Given the description of an element on the screen output the (x, y) to click on. 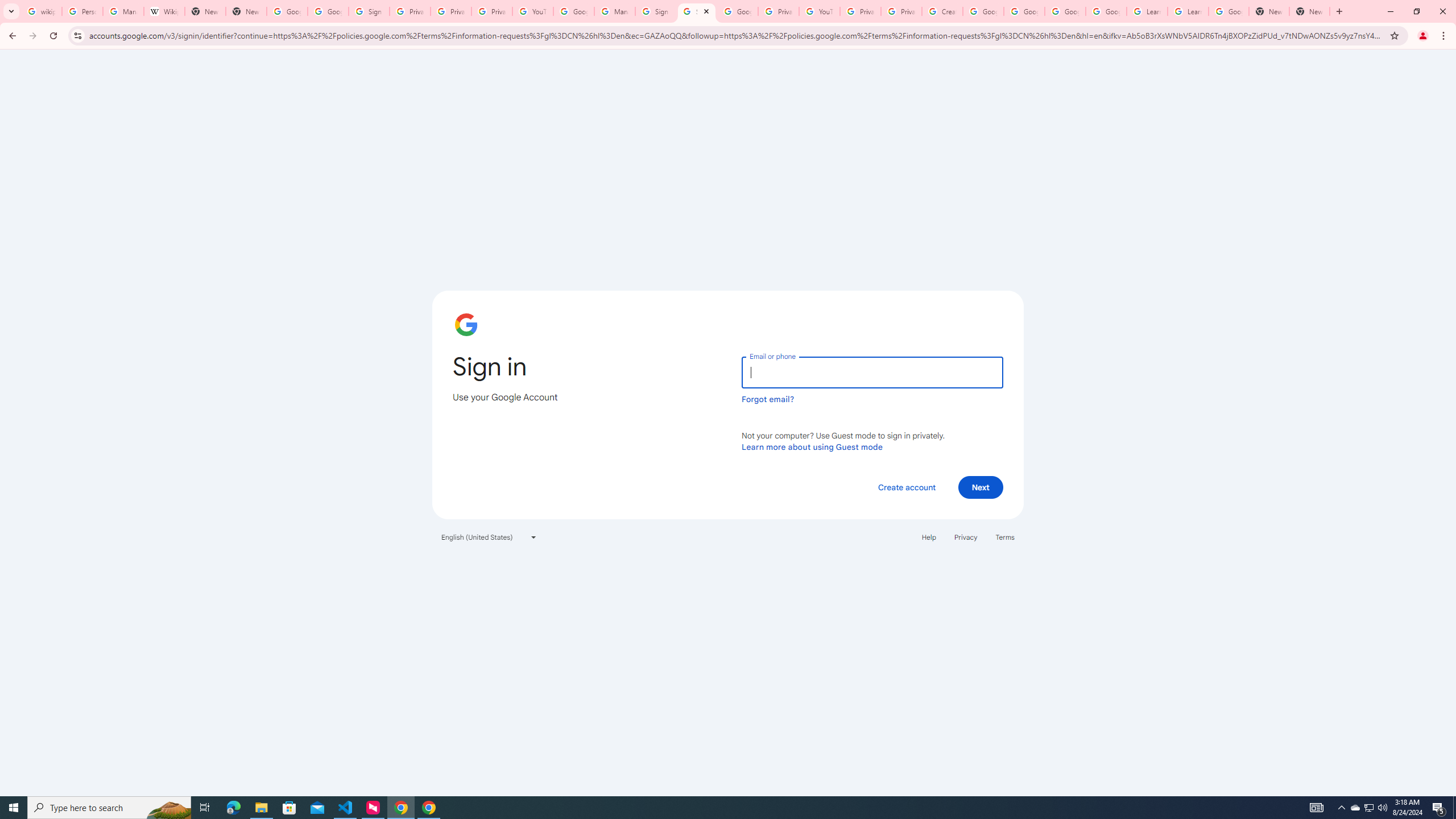
Google Account Help (1105, 11)
New Tab (1309, 11)
New Tab (1268, 11)
Sign in - Google Accounts (655, 11)
Sign in - Google Accounts (368, 11)
Google Account Help (573, 11)
Google Account Help (1023, 11)
Next (980, 486)
